Given the description of an element on the screen output the (x, y) to click on. 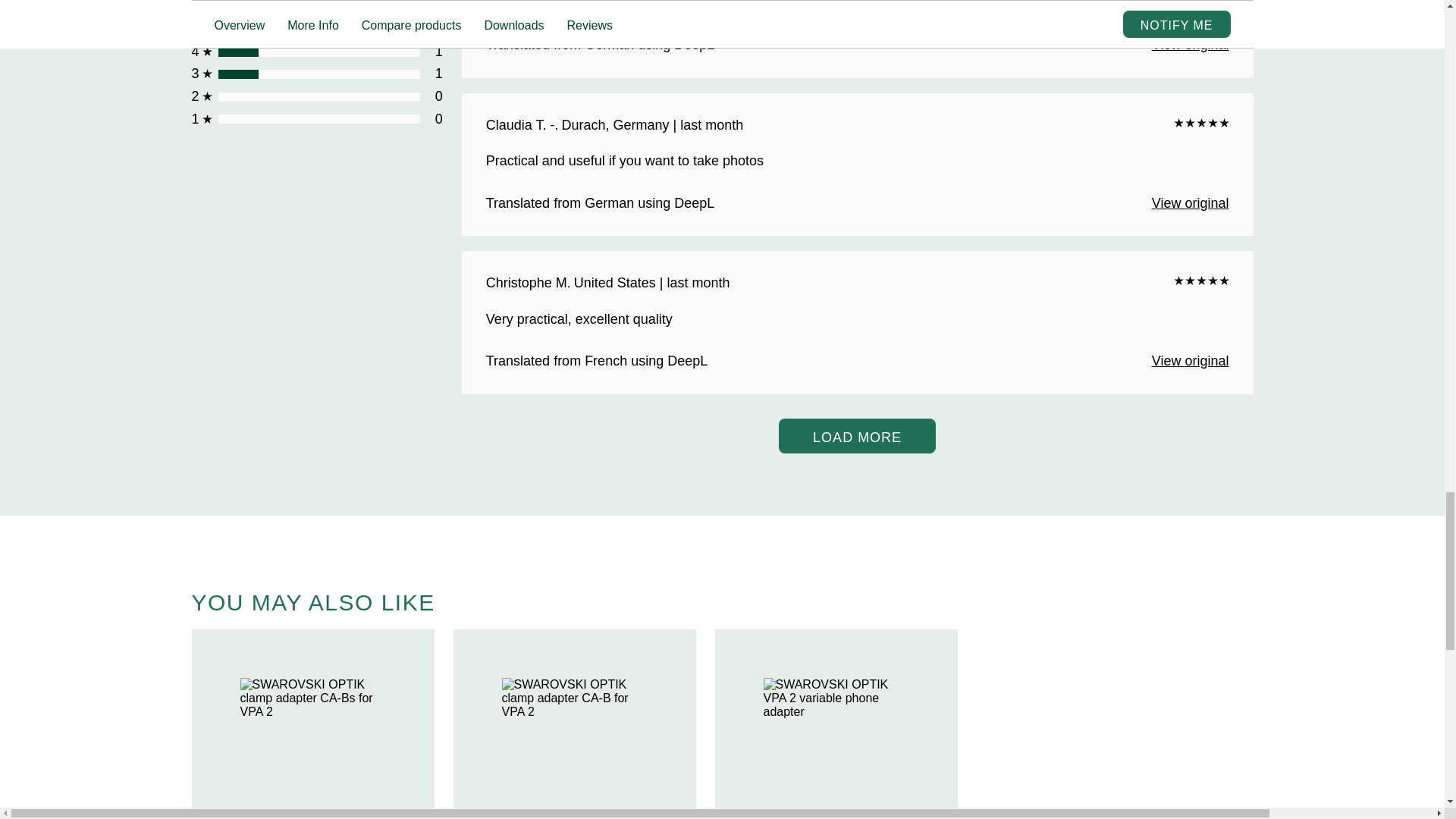
2024-06-28T06:20:03.000Z (651, 125)
2024-06-29T06:20:38.000Z (651, 283)
